Given the description of an element on the screen output the (x, y) to click on. 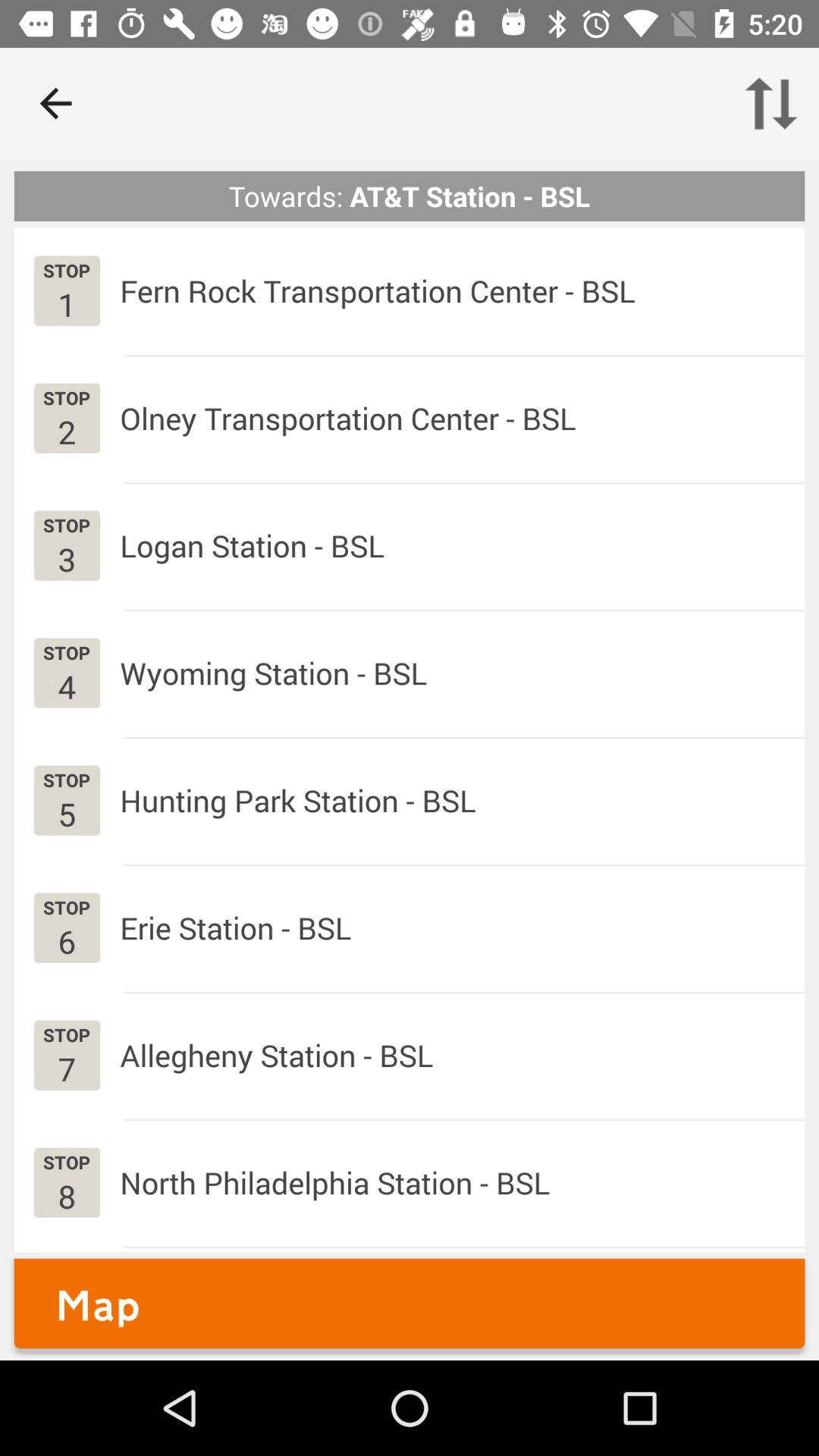
select app below the stop (66, 431)
